Given the description of an element on the screen output the (x, y) to click on. 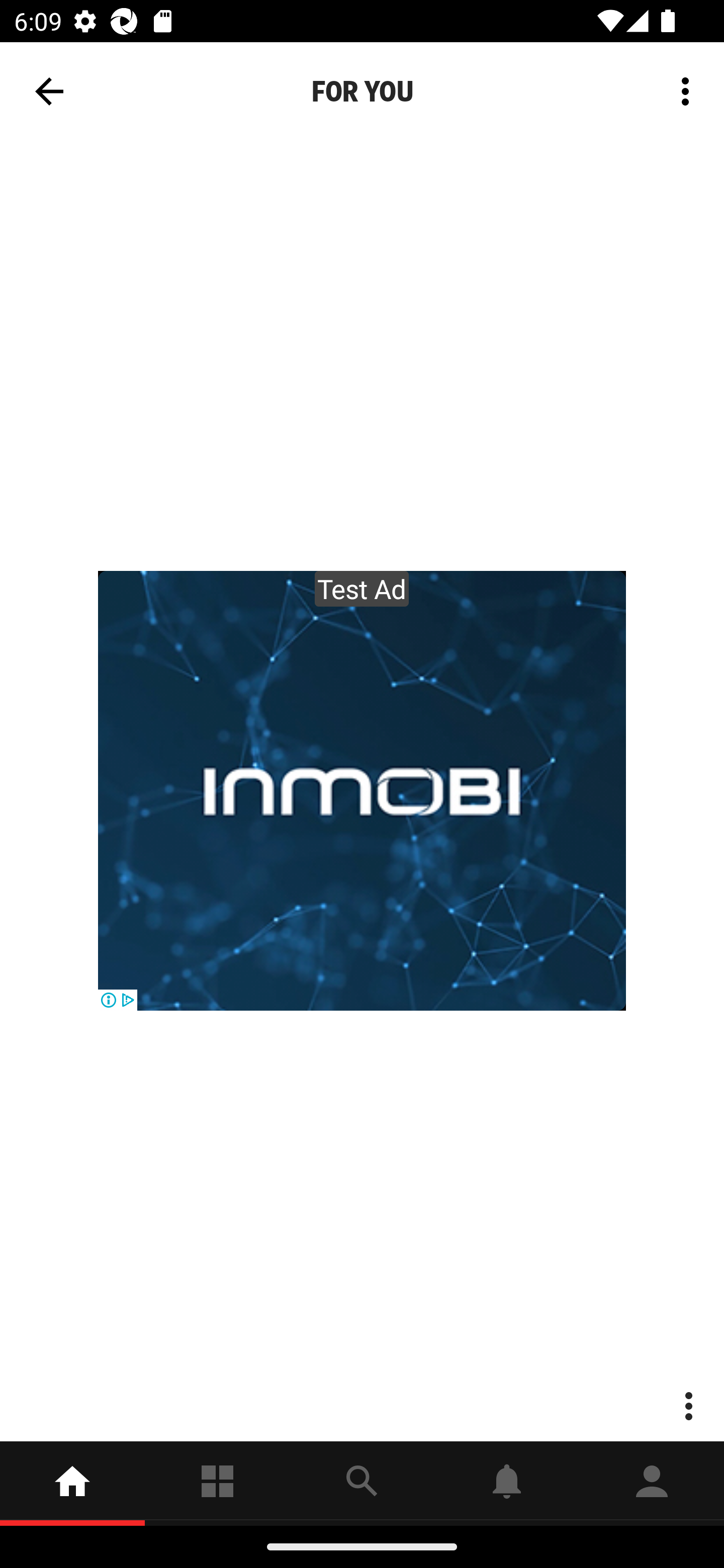
Back (49, 91)
FOR YOU (361, 91)
Edit Home (679, 81)
inmobi-creative (361, 790)
home (72, 1482)
Following (216, 1482)
explore (361, 1482)
Notifications (506, 1482)
Profile (651, 1482)
